Given the description of an element on the screen output the (x, y) to click on. 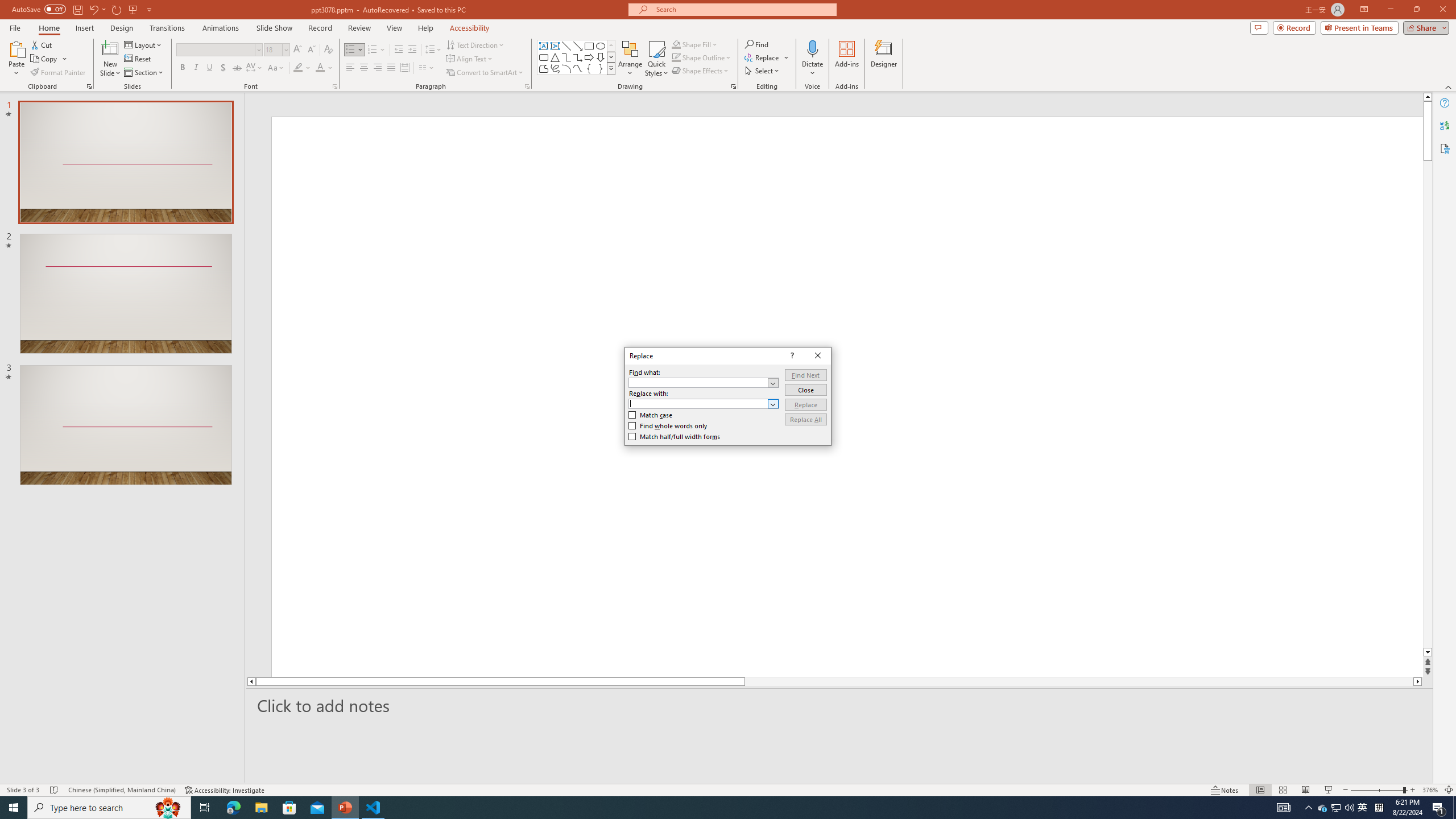
Page down (1427, 406)
Translator (1444, 125)
Class: MsoCommandBar (728, 789)
Row Down (611, 56)
Align Left (349, 67)
Class: NetUIImage (610, 68)
Text Highlight Color (302, 67)
Center (363, 67)
Arrow: Right (589, 57)
Bold (182, 67)
Line up (1427, 96)
Arrow: Down (600, 57)
